Given the description of an element on the screen output the (x, y) to click on. 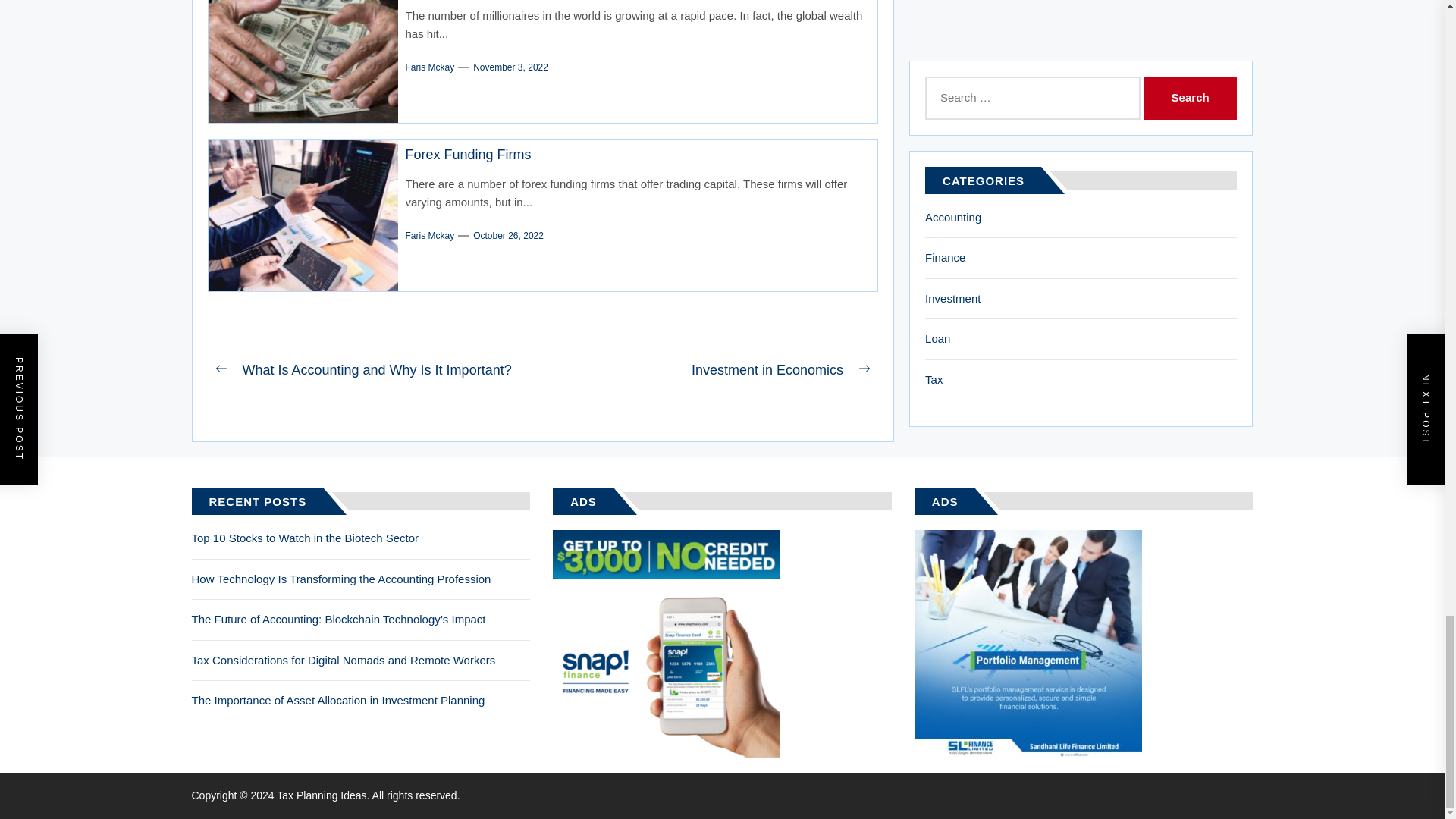
Tax Planning Ideas (323, 795)
